Given the description of an element on the screen output the (x, y) to click on. 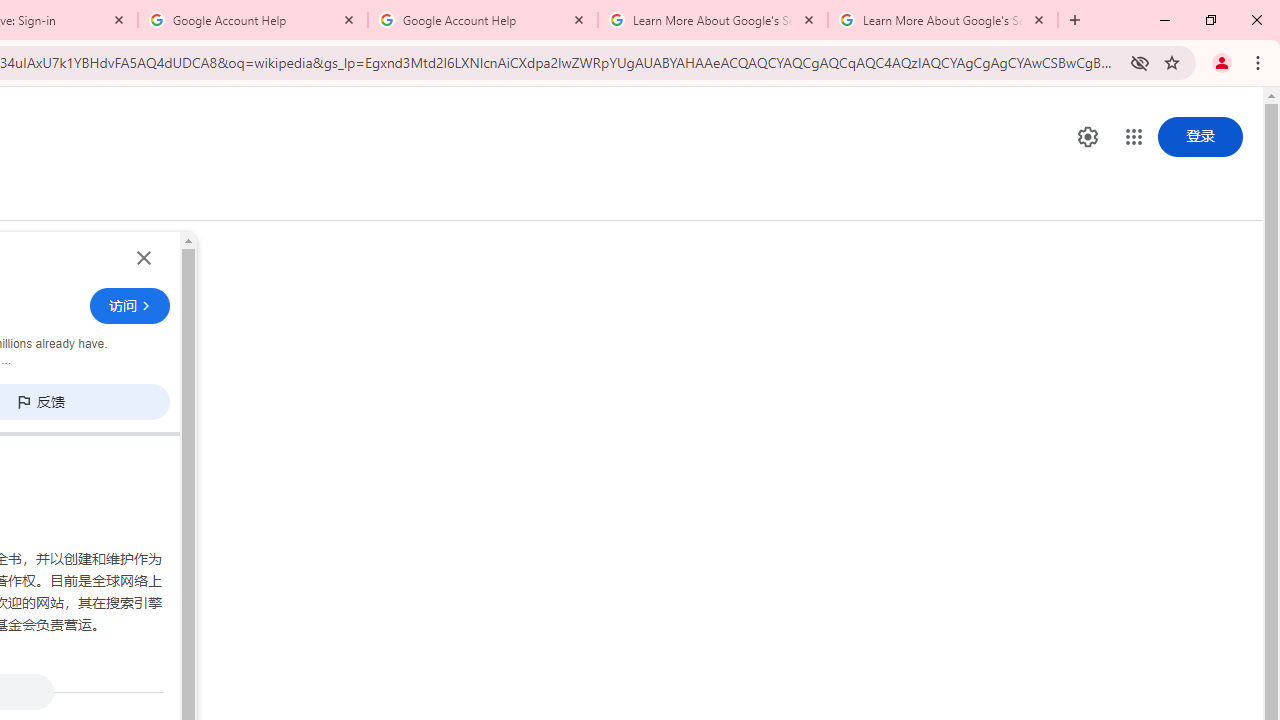
Google Account Help (482, 20)
